Given the description of an element on the screen output the (x, y) to click on. 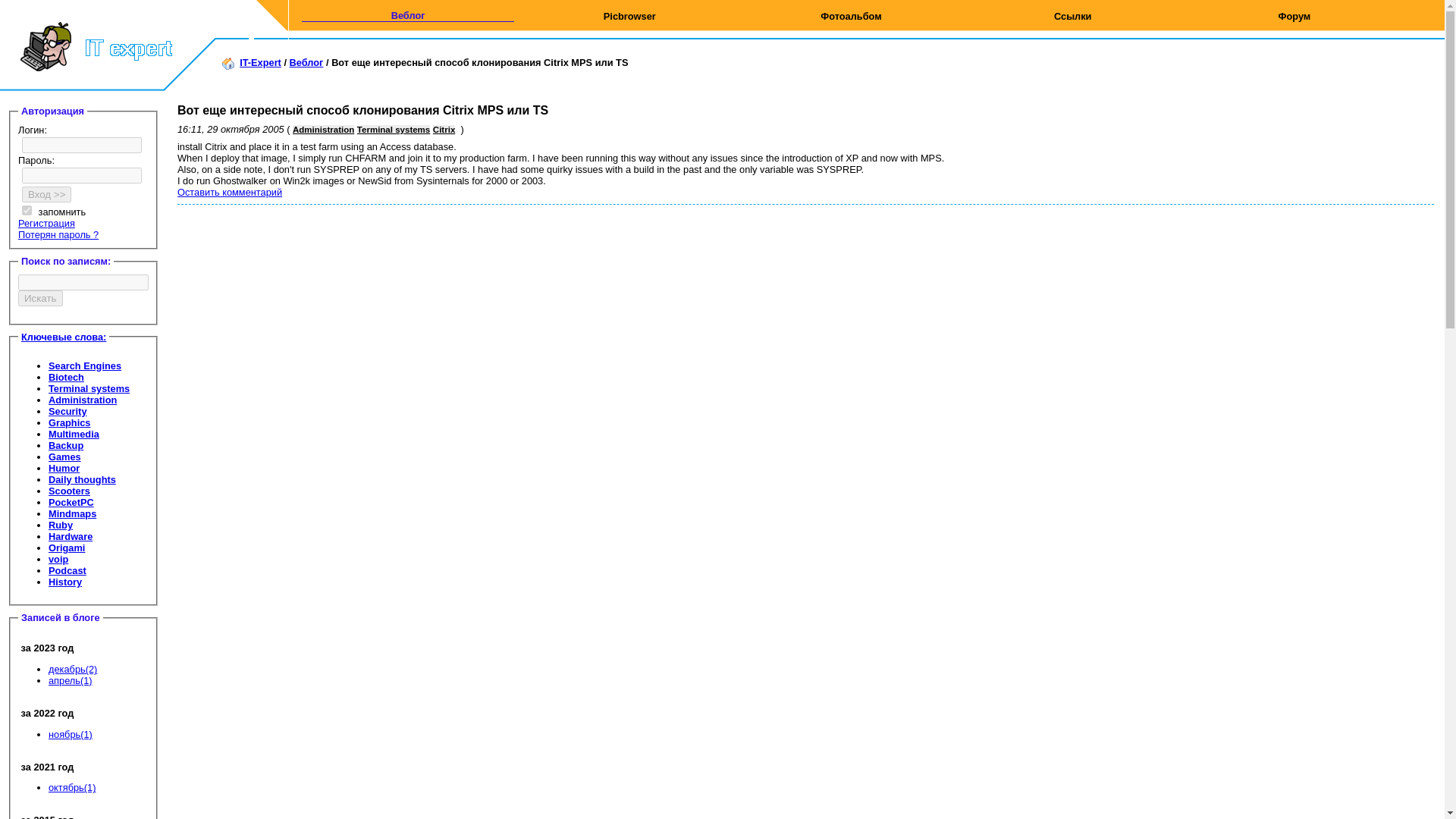
1 (26, 210)
Humor (64, 468)
Graphics (69, 422)
Origami (66, 547)
Biotech (66, 377)
PocketPC (71, 501)
Podcast (66, 570)
voip (58, 559)
Ruby (60, 524)
History (64, 582)
